Given the description of an element on the screen output the (x, y) to click on. 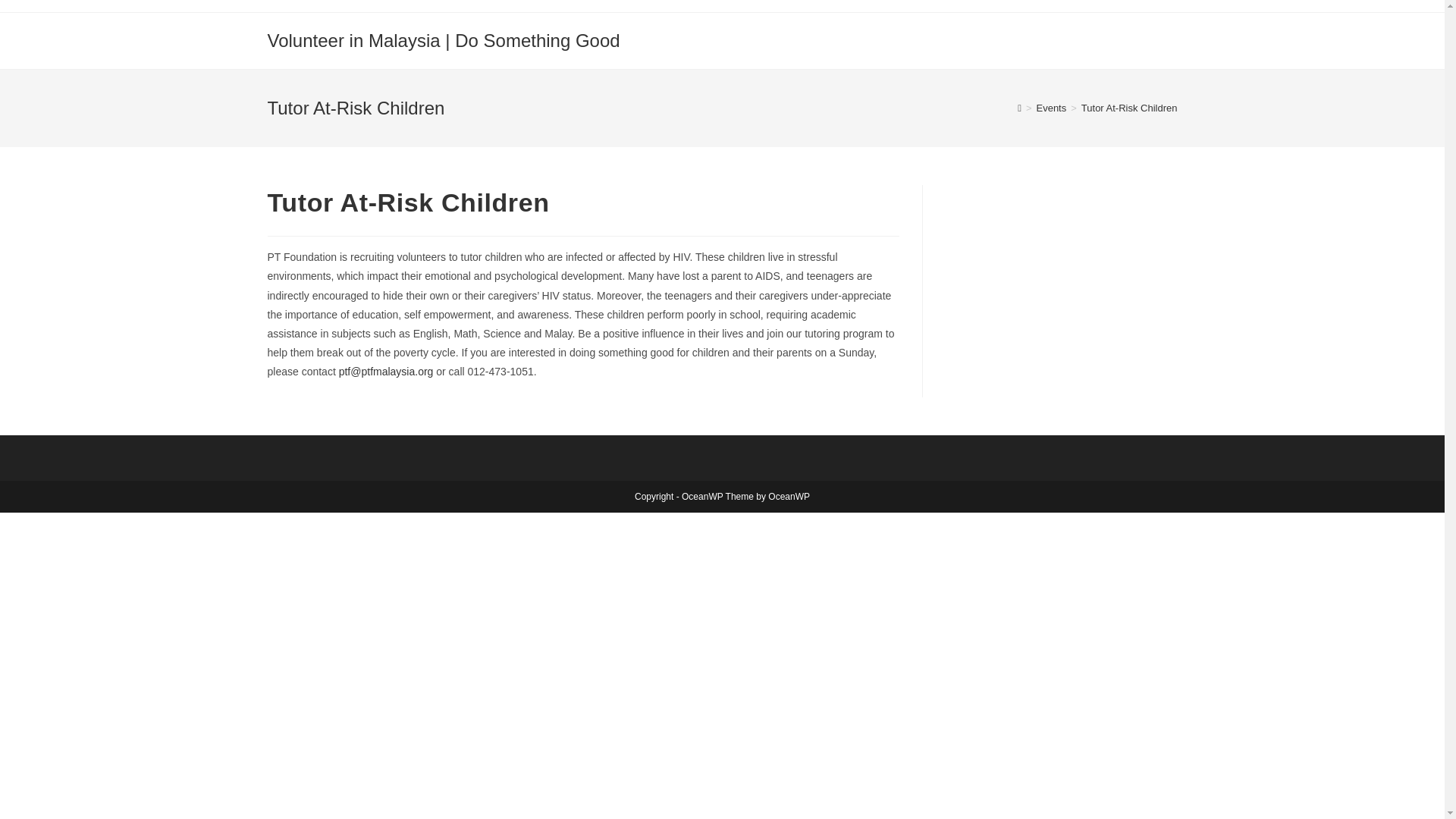
Events (1050, 107)
Tutor At-Risk Children (1129, 107)
